Given the description of an element on the screen output the (x, y) to click on. 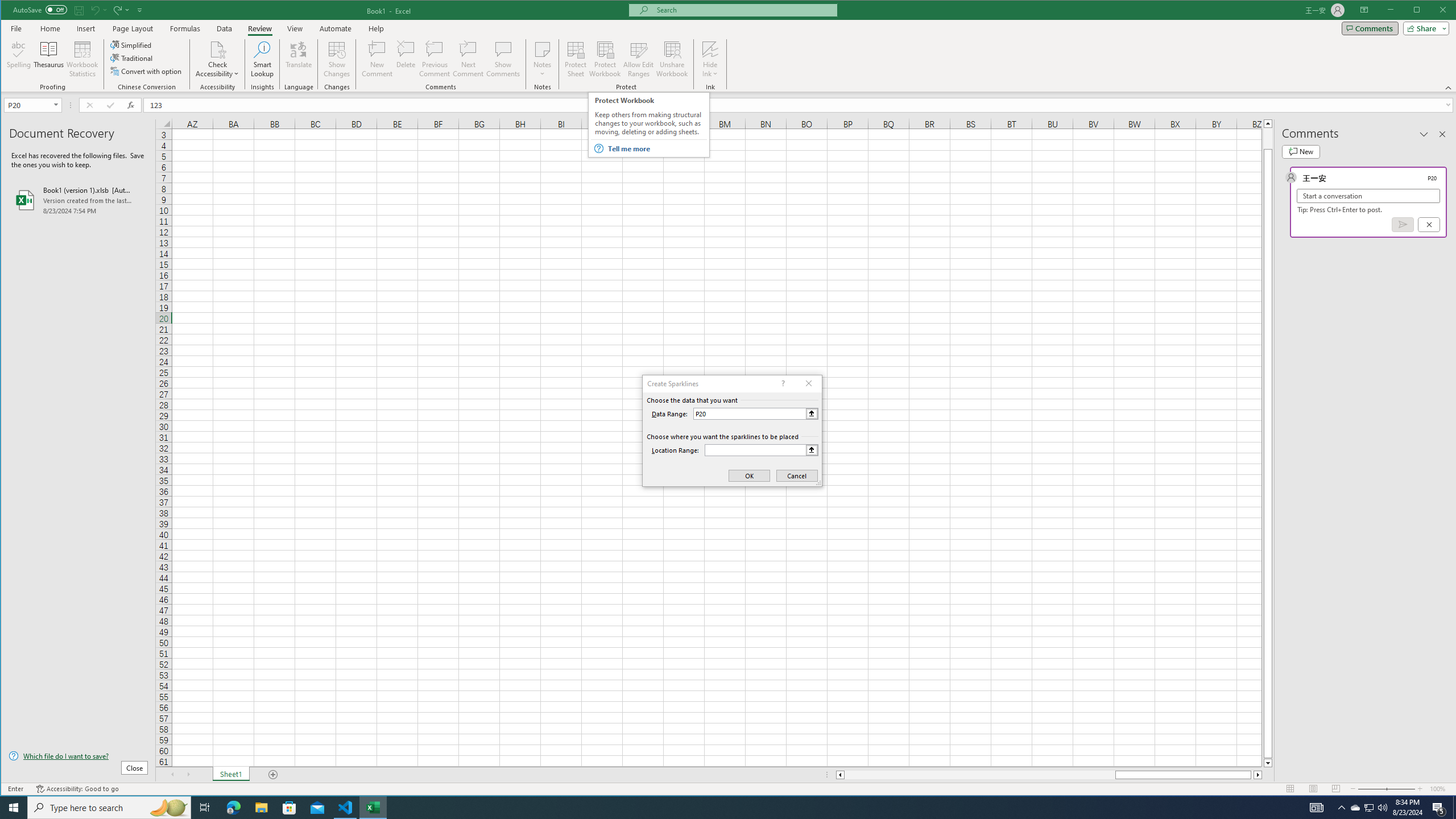
Check Accessibility (217, 59)
Workbook Statistics (82, 59)
Tell me more (657, 148)
Cancel (1428, 224)
Hide Ink (710, 59)
Translate (298, 59)
